Given the description of an element on the screen output the (x, y) to click on. 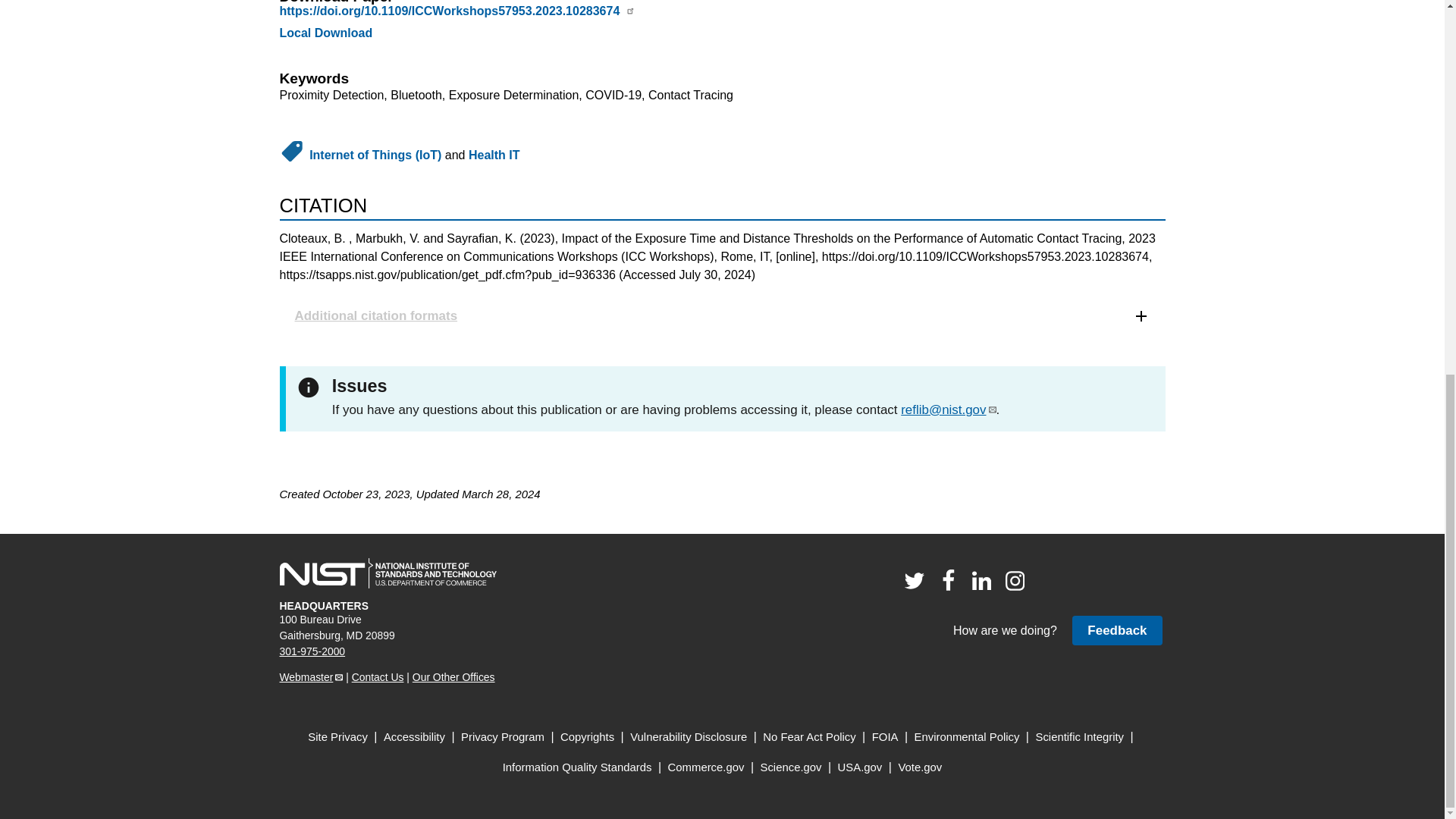
Vulnerability Disclosure (688, 736)
Accessibility (414, 736)
301-975-2000 (312, 651)
Provide feedback (1116, 630)
Site Privacy (337, 736)
National Institute of Standards and Technology (387, 572)
Local Download (325, 32)
Copyrights (587, 736)
Additional citation formats (721, 315)
Health IT (493, 154)
No Fear Act Policy (809, 736)
Contact Us (378, 676)
Privacy Program (502, 736)
Feedback (1116, 630)
Our Other Offices (453, 676)
